Given the description of an element on the screen output the (x, y) to click on. 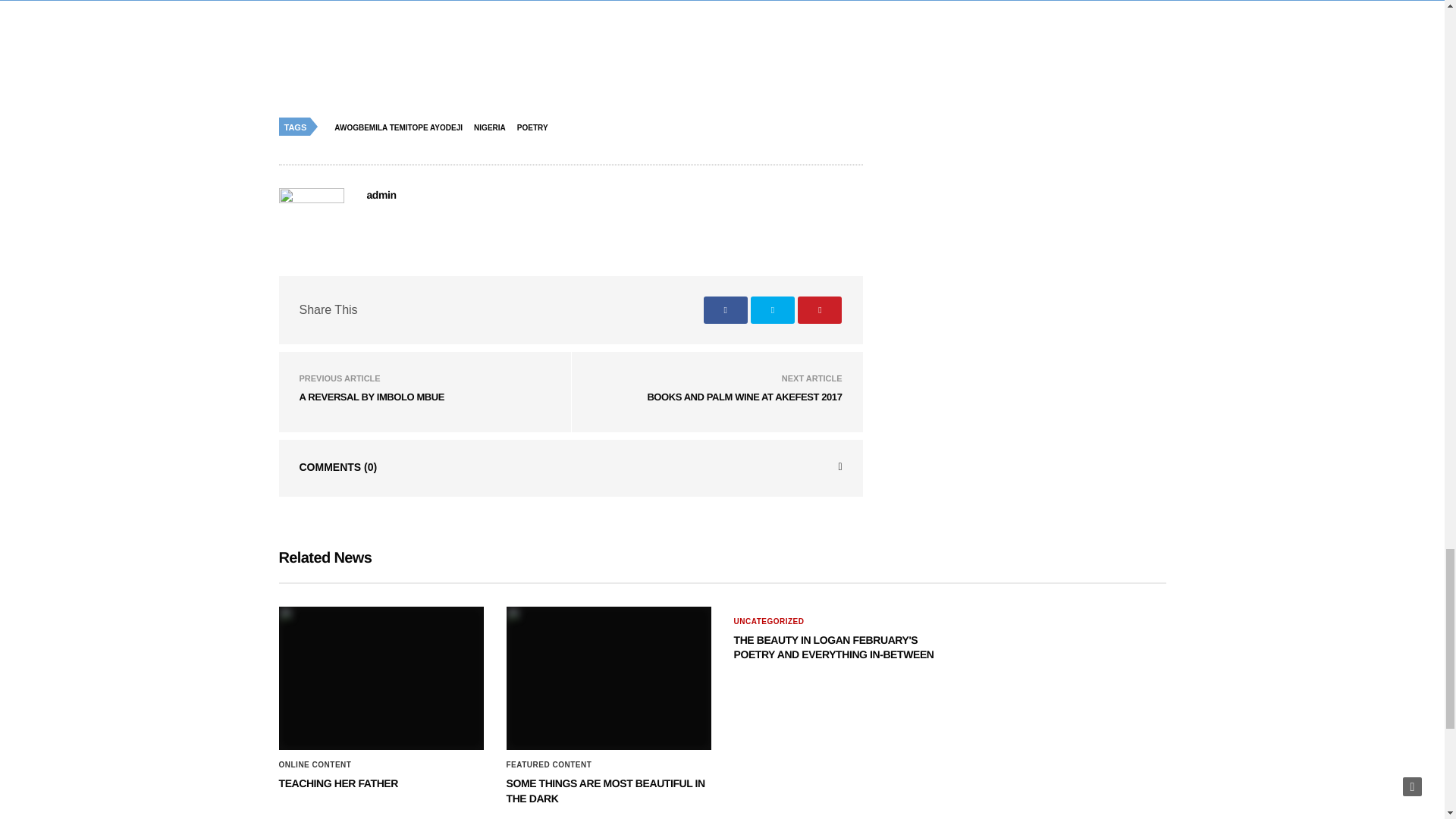
BOOKS AND PALM WINE AT AKEFEST 2017 (743, 396)
Books and Palm Wine at AkeFest 2017 (743, 396)
A REVERSAL BY IMBOLO MBUE (371, 396)
admin (381, 194)
NIGERIA (493, 127)
POETRY (536, 127)
A Reversal by Imbolo Mbue (371, 396)
AWOGBEMILA TEMITOPE AYODEJI (401, 127)
